Given the description of an element on the screen output the (x, y) to click on. 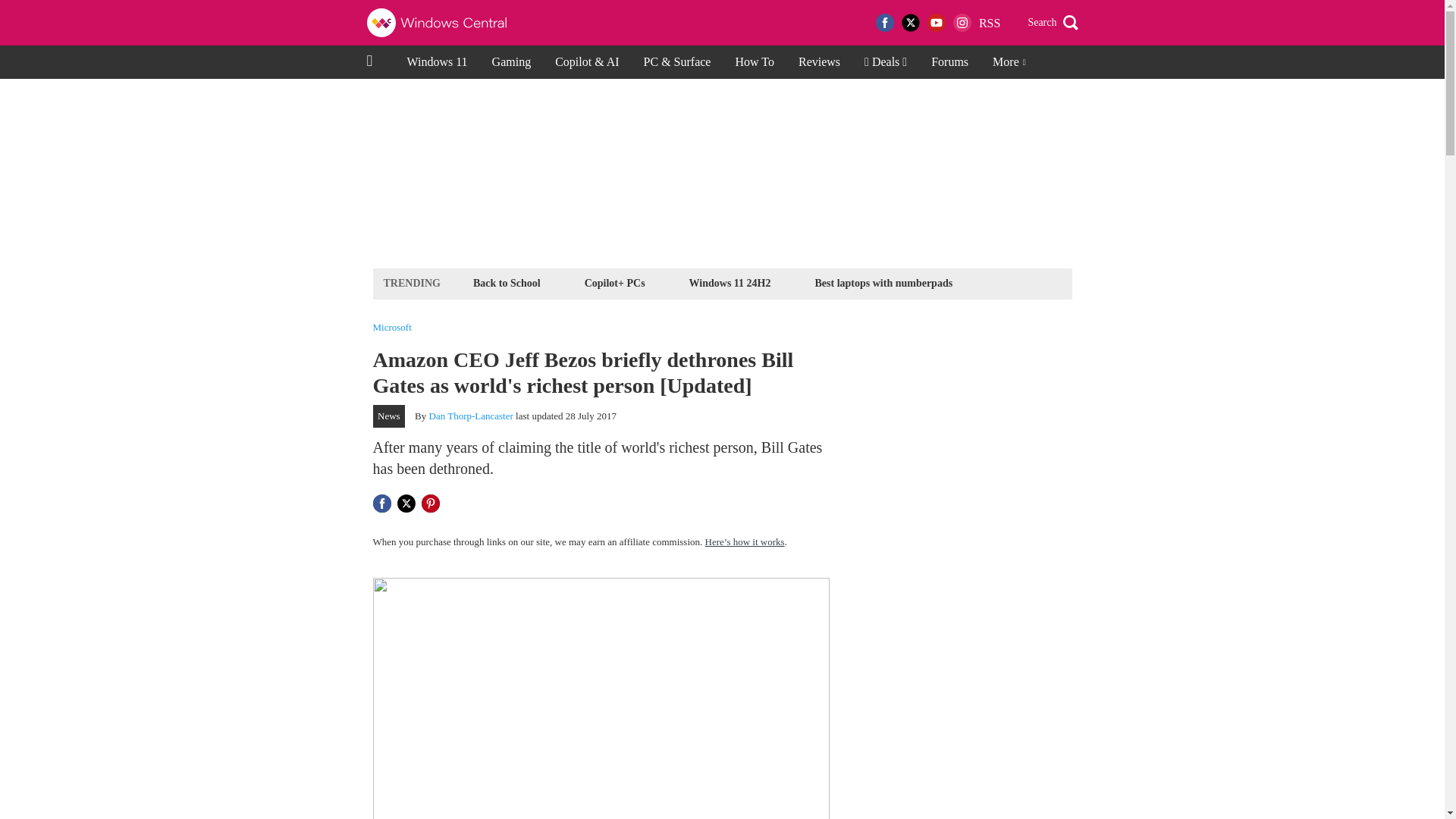
RSS (989, 22)
Reviews (818, 61)
Dan Thorp-Lancaster (471, 415)
Forums (948, 61)
Gaming (511, 61)
Windows 11 24H2 (730, 282)
Windows 11 (436, 61)
Best laptops with numberpads (883, 282)
How To (754, 61)
Microsoft (392, 327)
